Given the description of an element on the screen output the (x, y) to click on. 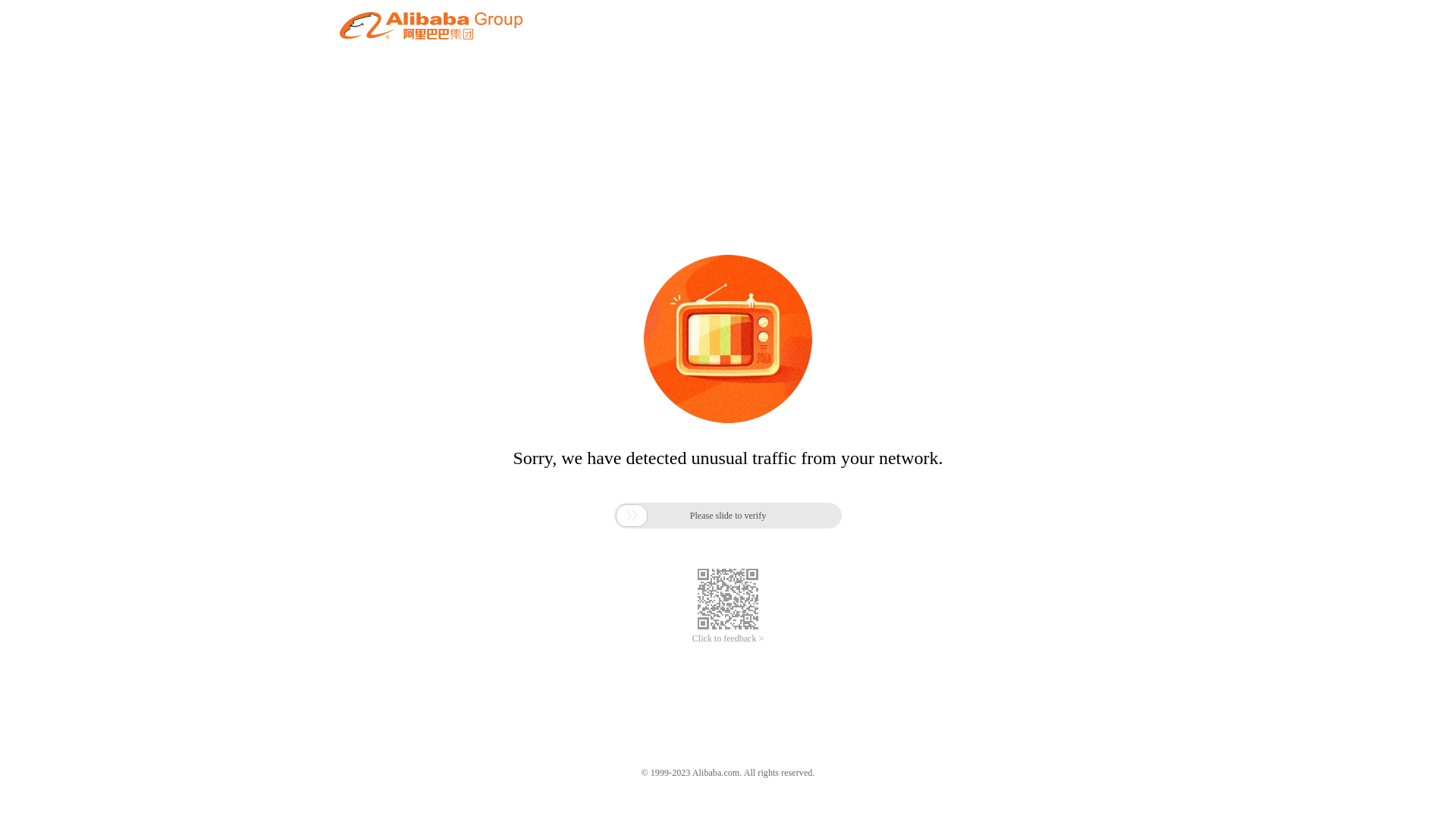
Click to feedback > Element type: text (727, 638)
